Given the description of an element on the screen output the (x, y) to click on. 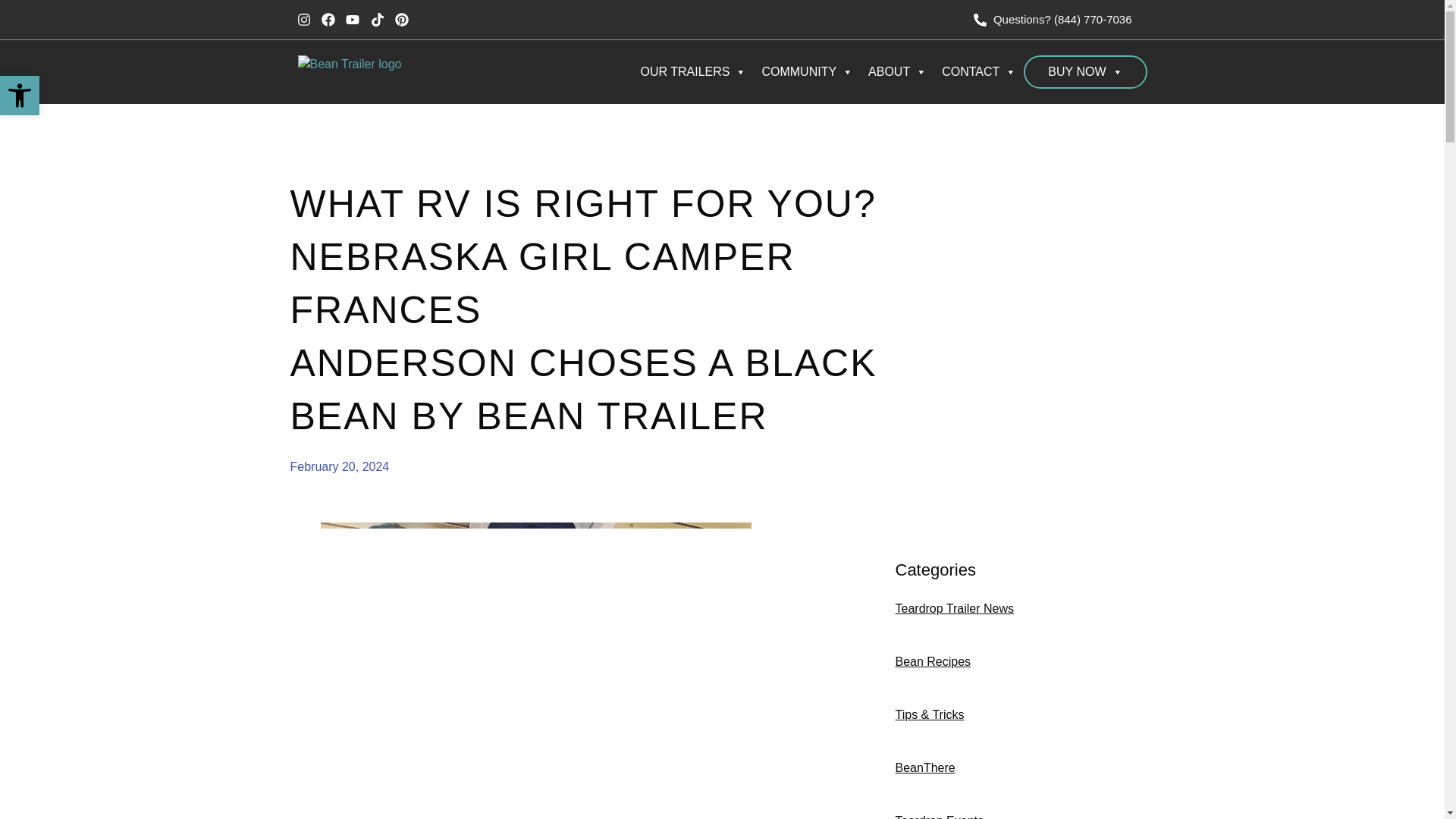
OUR TRAILERS (692, 71)
COMMUNITY (807, 71)
Return to Home (368, 71)
Accessibility Tools (19, 95)
Accessibility Tools (19, 95)
